Given the description of an element on the screen output the (x, y) to click on. 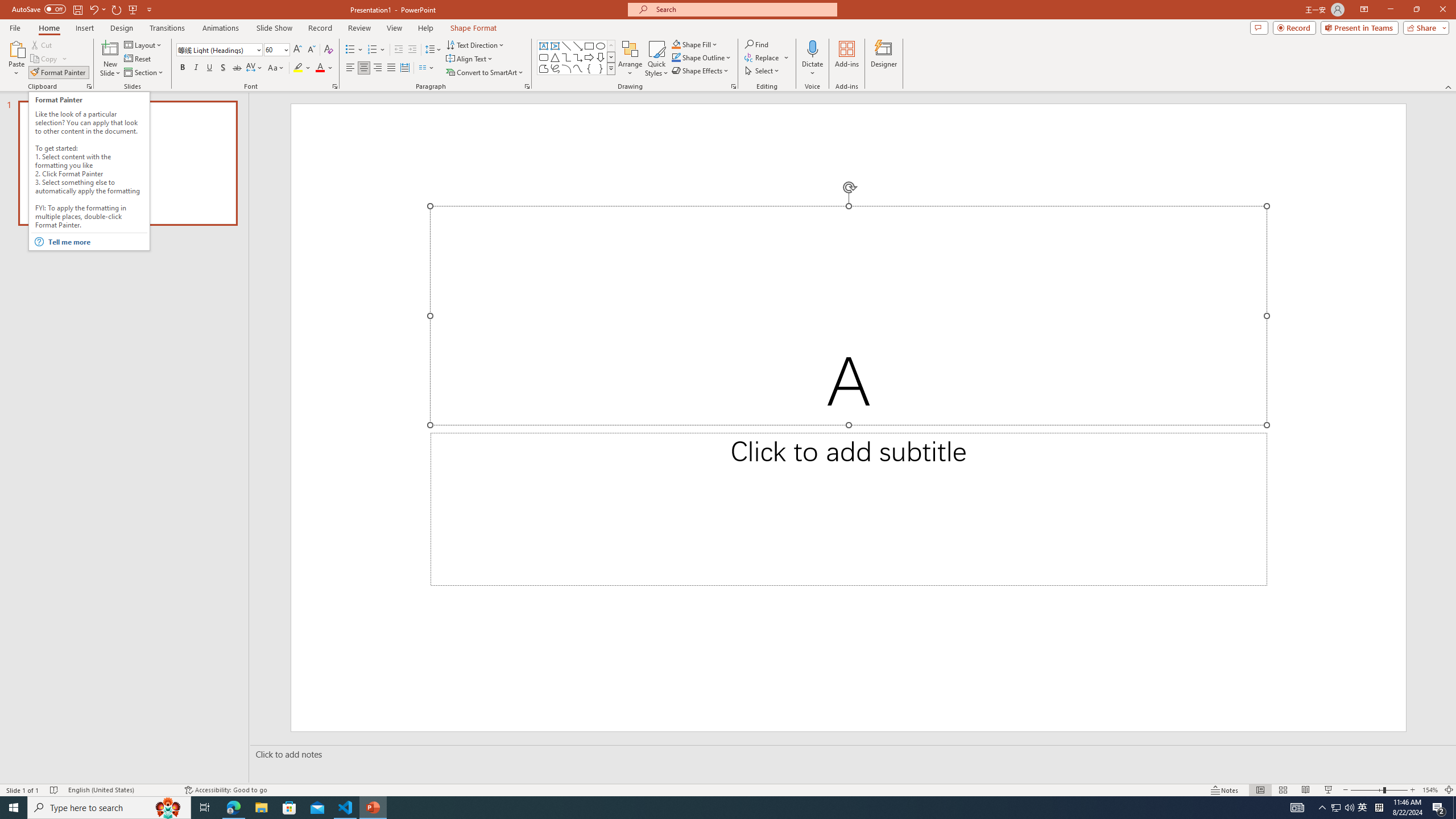
Open (285, 49)
Distributed (404, 67)
Zoom 154% (1430, 790)
Bullets (354, 49)
Save (77, 9)
Find... (756, 44)
Oval (600, 45)
Character Spacing (254, 67)
AutoSave (38, 9)
Share (1423, 27)
Home (48, 28)
Shape Outline Blue, Accent 1 (675, 56)
Format Painter (58, 72)
Text Highlight Color (302, 67)
Align Right (377, 67)
